Given the description of an element on the screen output the (x, y) to click on. 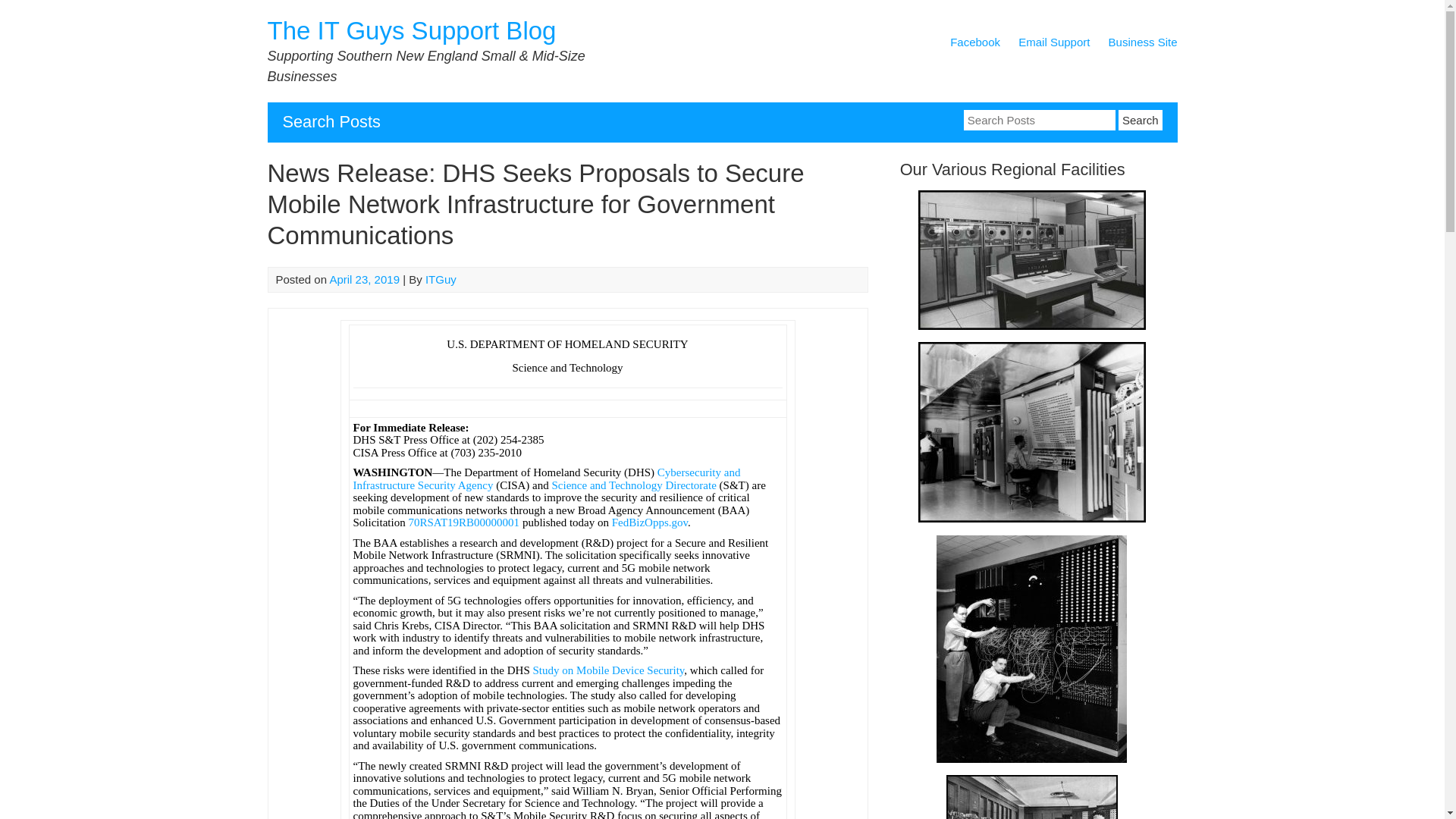
Study on Mobile Device Security (608, 670)
Search (1139, 119)
Science and Technology Directorate (633, 485)
Search (1139, 119)
Search (1139, 119)
April 23, 2019 (363, 278)
Business Site (1142, 44)
70RSAT19RB00000001 (463, 522)
The IT Guys Support Blog (411, 30)
Email Support (1053, 44)
Cybersecurity and Infrastructure Security Agency (547, 478)
The IT Guys Support Blog (411, 30)
Facebook (975, 44)
FedBizOpps.gov (649, 522)
ITGuy (441, 278)
